Given the description of an element on the screen output the (x, y) to click on. 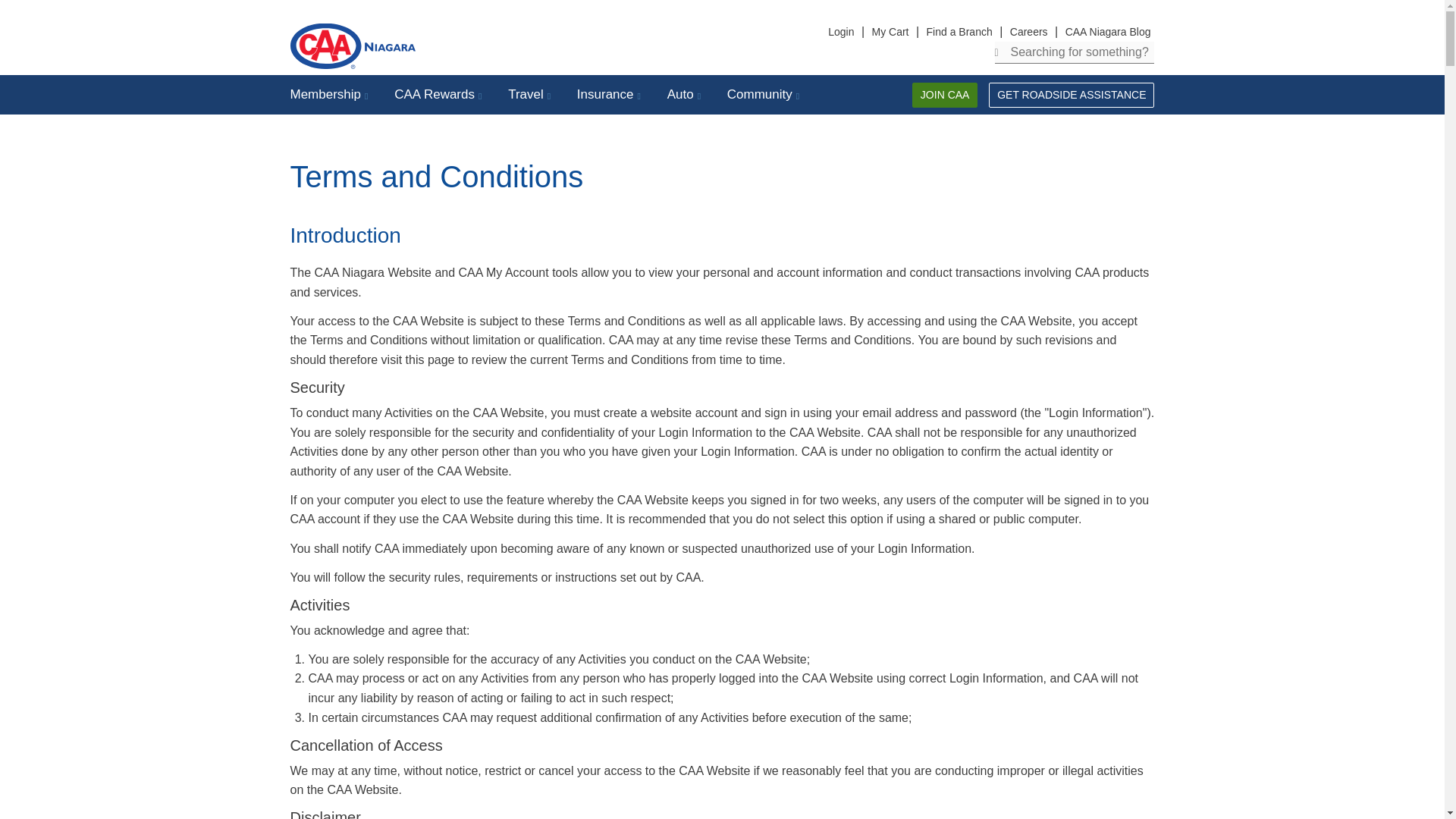
CAA Rewards (439, 93)
Home (425, 45)
My Cart (889, 31)
Careers (1028, 31)
CAA Niagara Blog (1107, 31)
Membership (330, 93)
Integarted Login (840, 31)
Find a Branch (959, 31)
My Cart (889, 31)
Login (840, 31)
Travel (531, 93)
Careers (1028, 31)
